Given the description of an element on the screen output the (x, y) to click on. 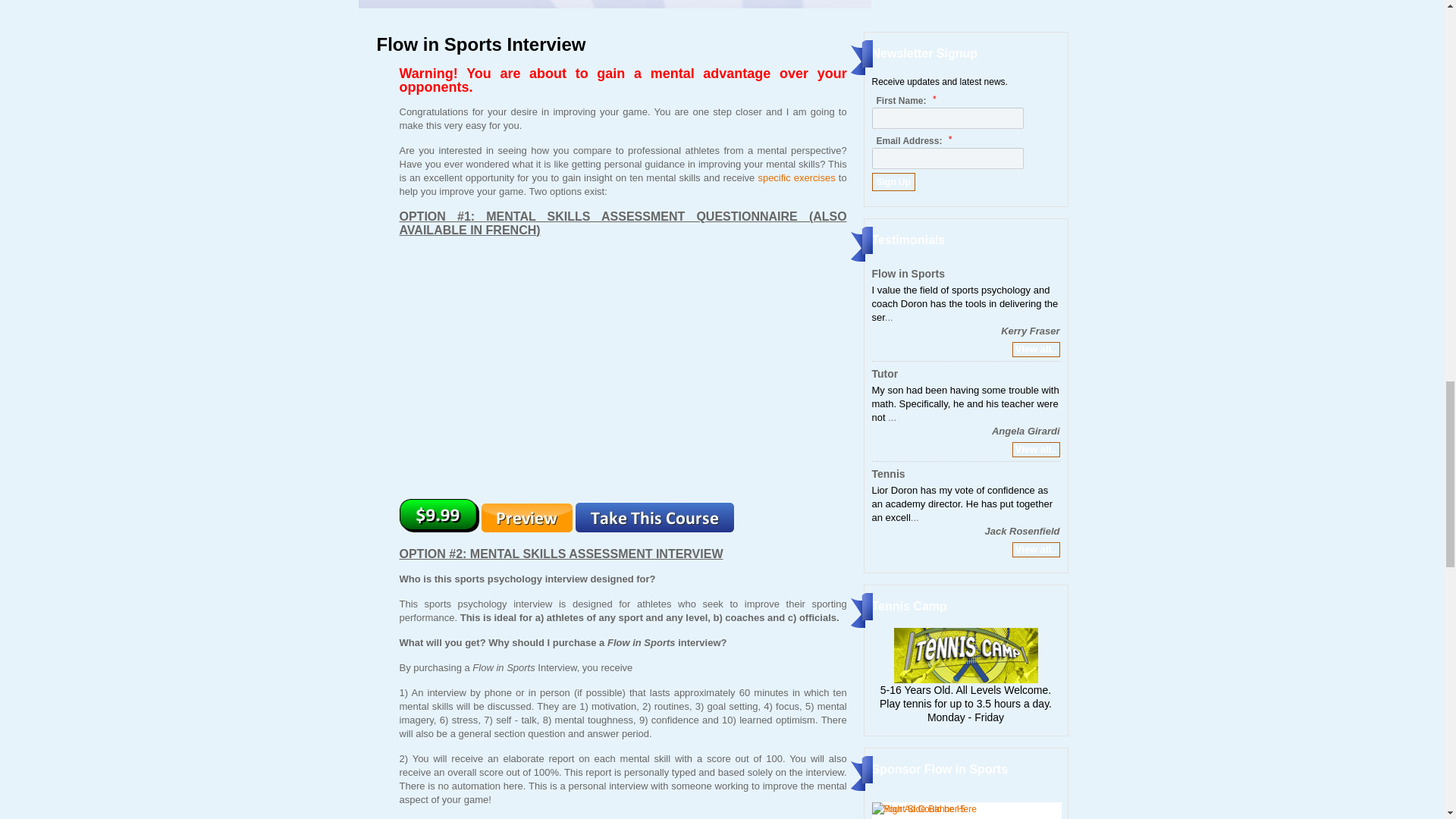
Your Ad Could be Here (924, 808)
Right Side Banner 5 (918, 808)
Sign Up (893, 181)
specific exercises (795, 177)
